Given the description of an element on the screen output the (x, y) to click on. 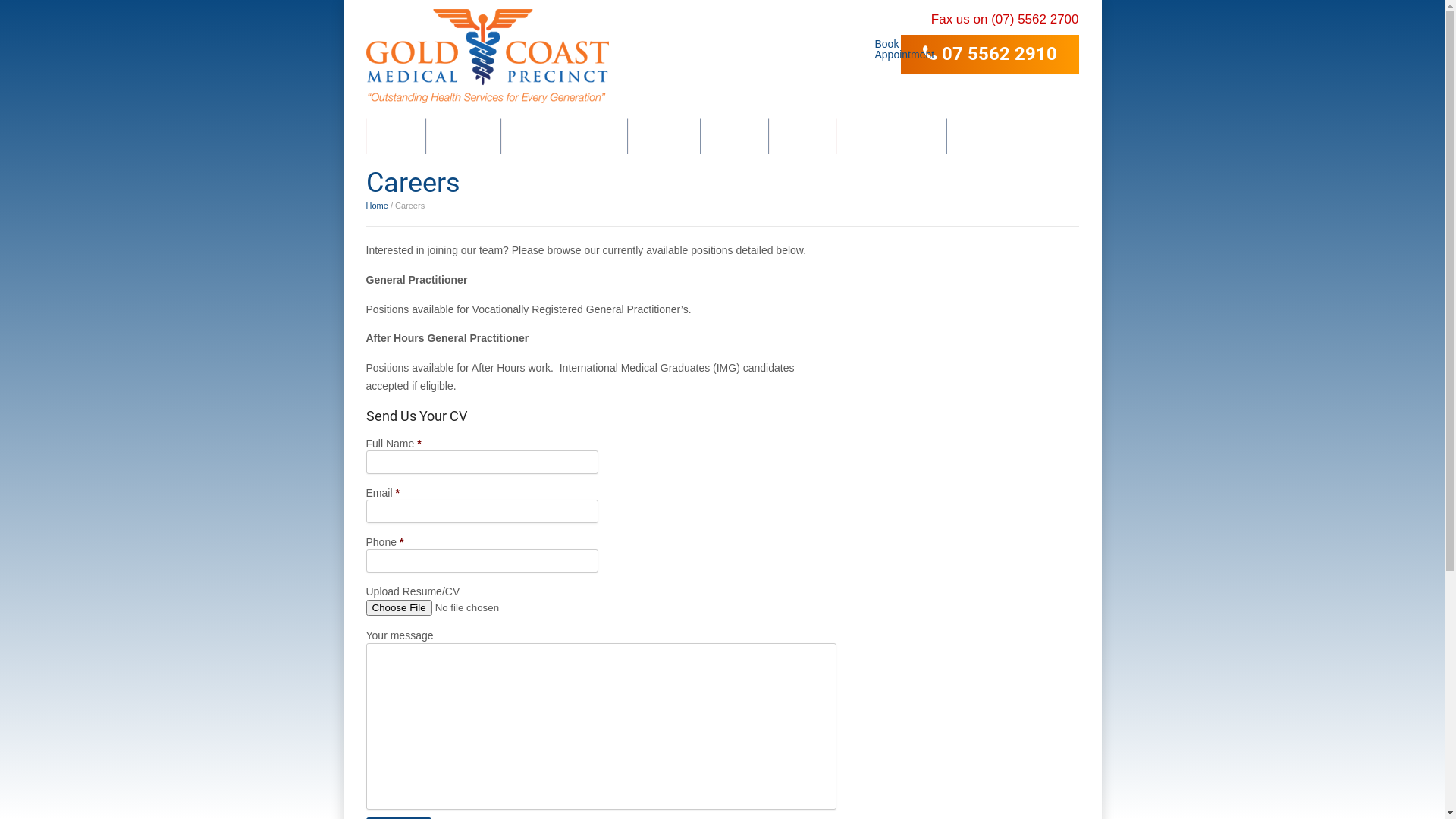
Book Appointment Element type: text (880, 43)
Contact Element type: text (802, 135)
About Us Element type: text (464, 135)
Medical Element type: text (734, 135)
Home Element type: text (376, 205)
Services Element type: text (663, 135)
Home Element type: text (395, 135)
General Practice Element type: text (891, 135)
07 5562 2910 Element type: text (989, 53)
Practice Information Element type: text (564, 135)
